Given the description of an element on the screen output the (x, y) to click on. 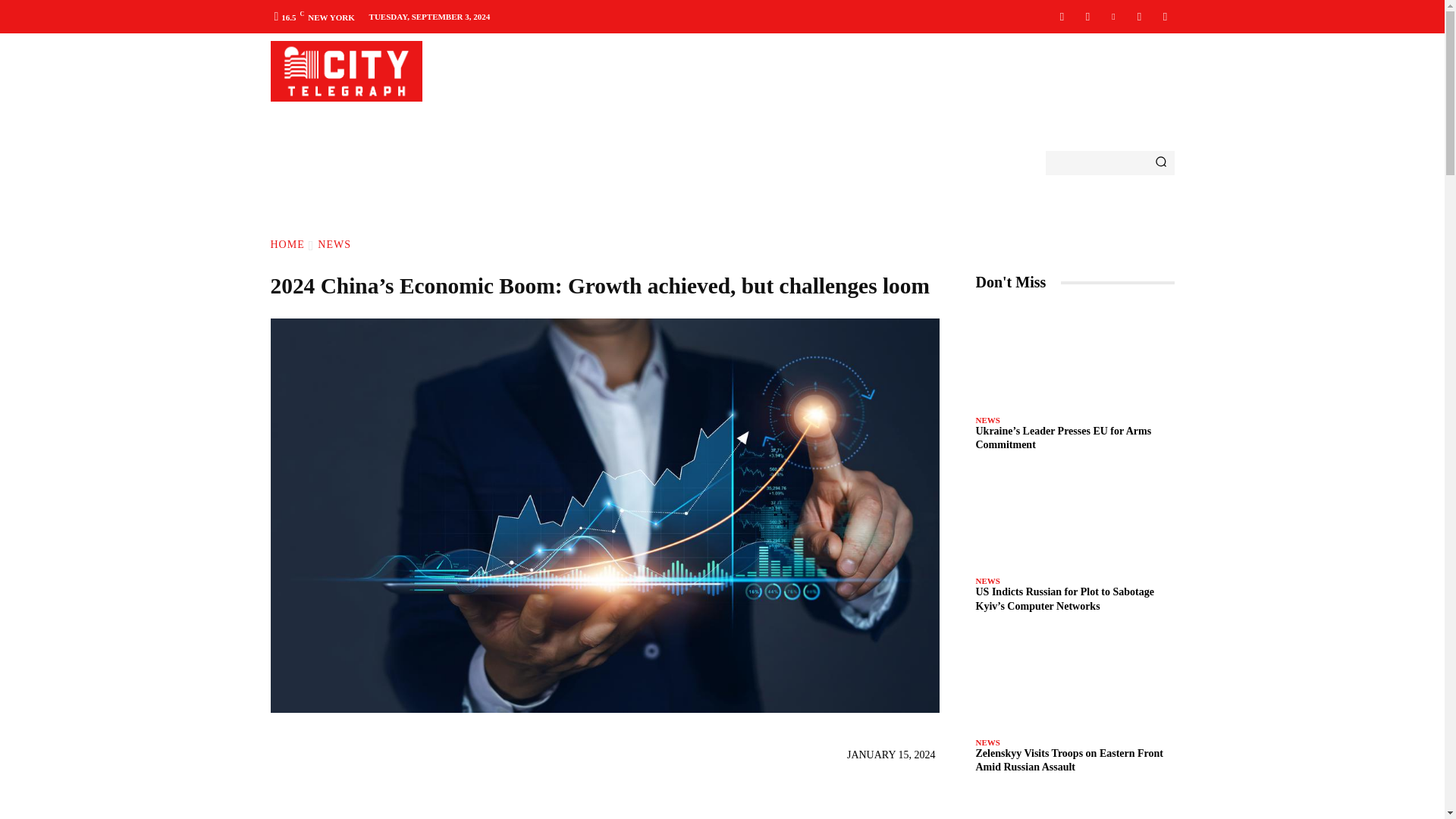
HOME (286, 244)
Instagram (1087, 16)
View all posts in News (333, 244)
NEWS (333, 244)
Facebook (1061, 16)
Twitter (1164, 16)
Reddit (1138, 16)
Linkedin (1112, 16)
